Given the description of an element on the screen output the (x, y) to click on. 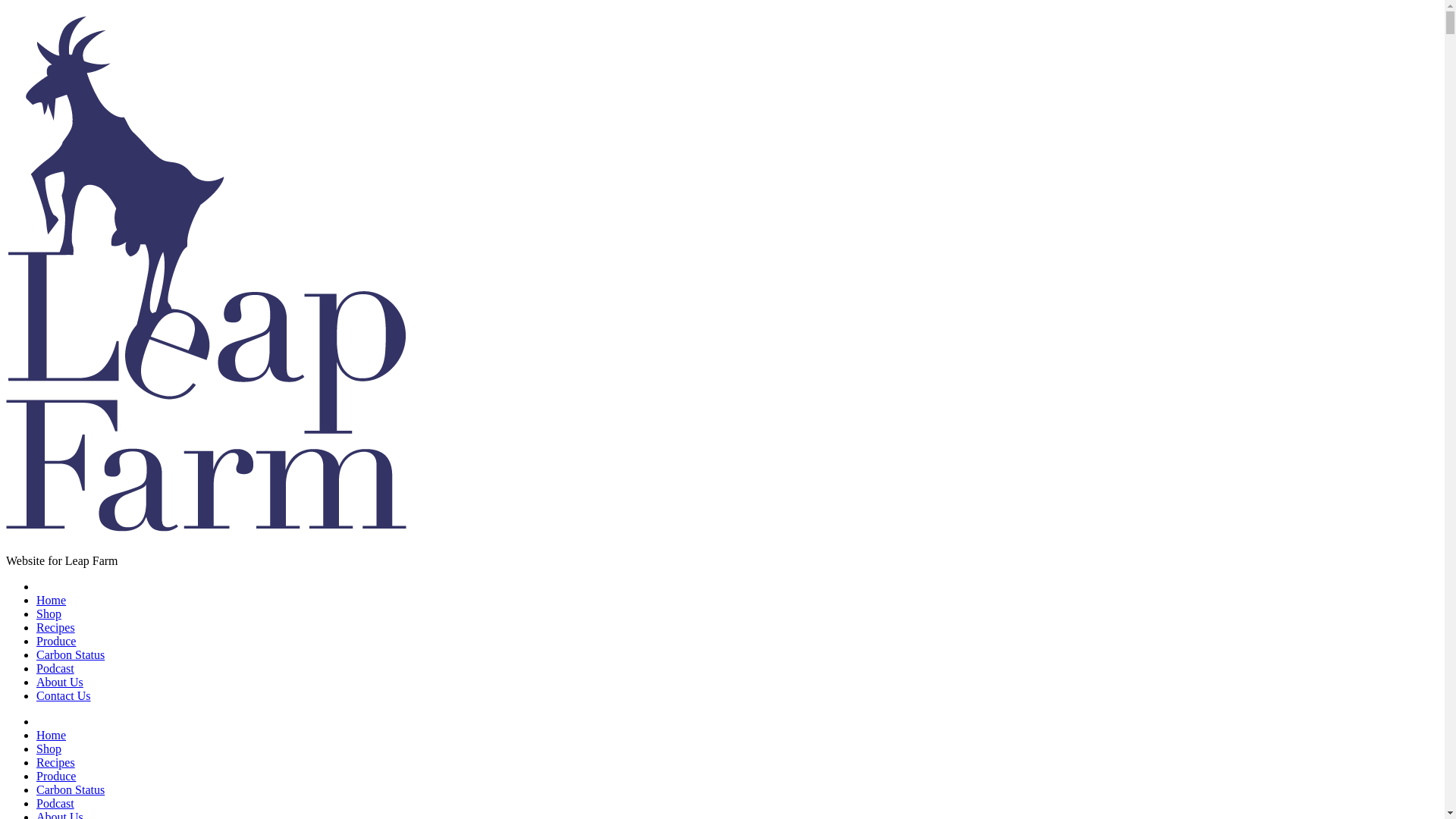
Home Element type: text (50, 734)
Produce Element type: text (55, 640)
Carbon Status Element type: text (70, 789)
Contact Us Element type: text (63, 695)
Carbon Status Element type: text (70, 654)
Home Element type: text (50, 599)
Shop Element type: text (48, 748)
Produce Element type: text (55, 775)
Podcast Element type: text (55, 803)
Shop Element type: text (48, 613)
Recipes Element type: text (55, 627)
Recipes Element type: text (55, 762)
Podcast Element type: text (55, 668)
About Us Element type: text (59, 681)
